Given the description of an element on the screen output the (x, y) to click on. 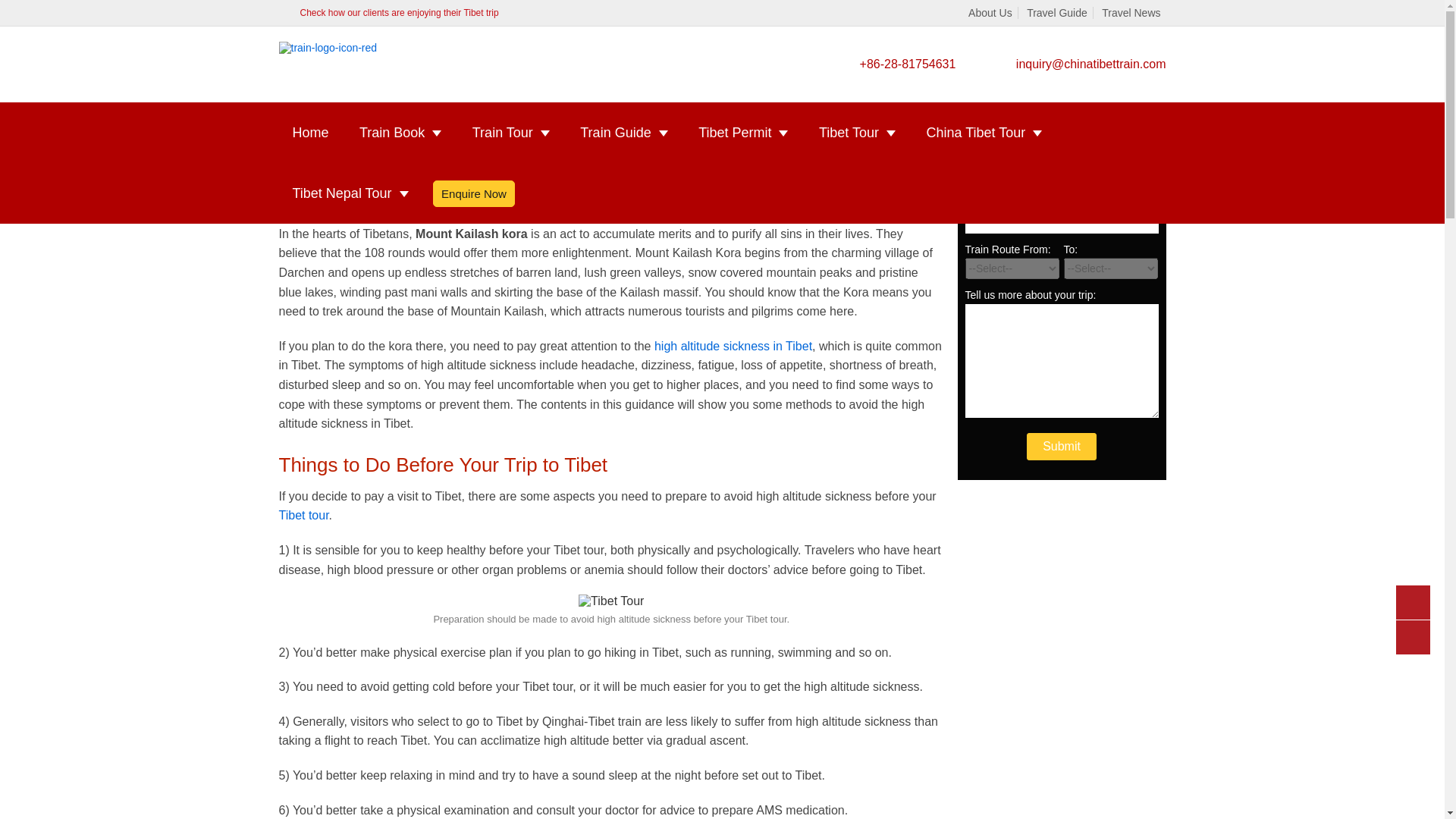
Home (292, 95)
Tibet Travel Guide (363, 95)
 Tibet Tour  (610, 601)
